Given the description of an element on the screen output the (x, y) to click on. 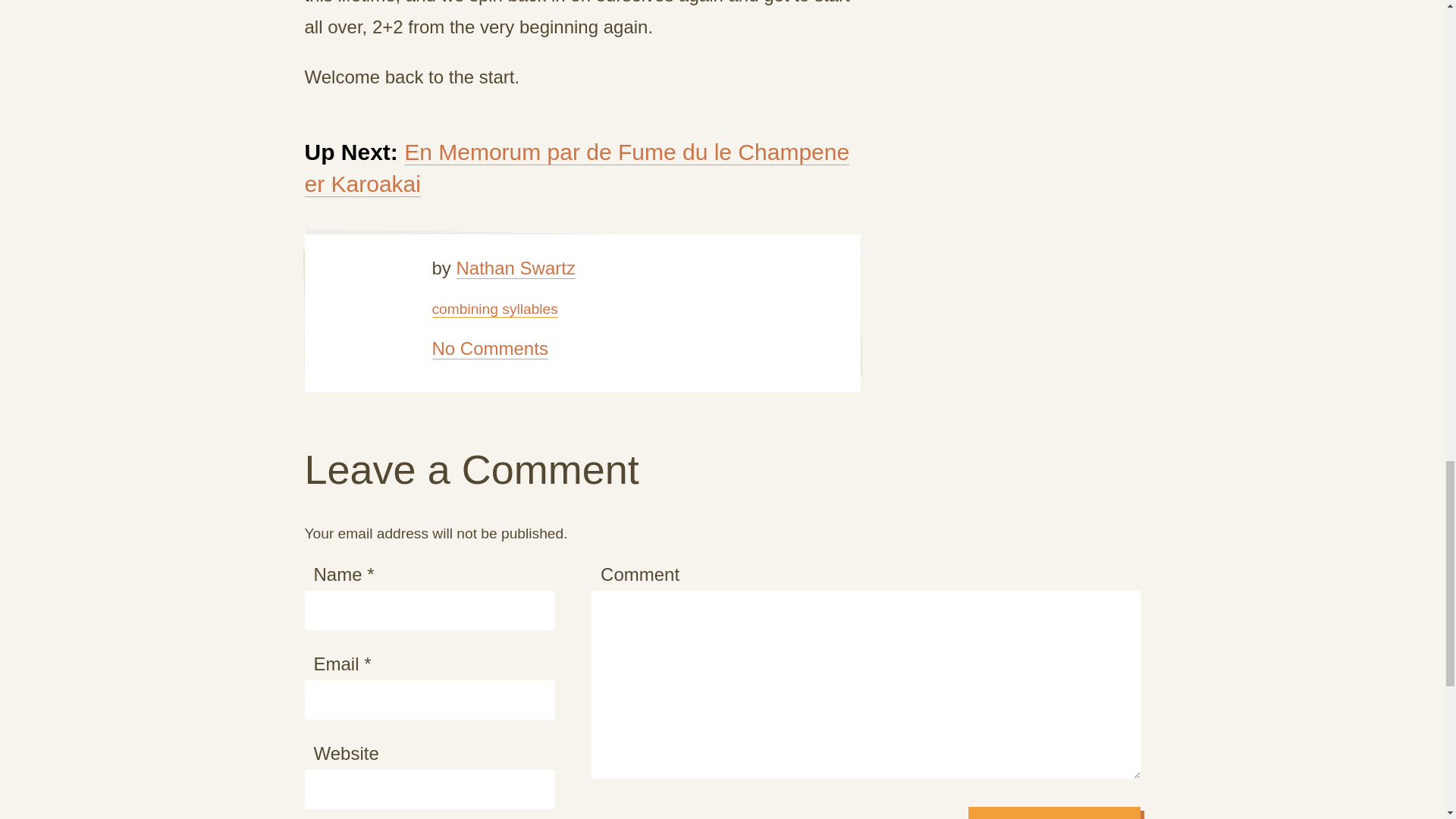
Publish (1054, 812)
En Memorum par de Fume du le Champene er Karoakai (577, 168)
Nathan Swartz (516, 268)
Publish (1054, 812)
View all posts in combining syllables (494, 309)
combining syllables (494, 309)
No Comments (490, 348)
